Given the description of an element on the screen output the (x, y) to click on. 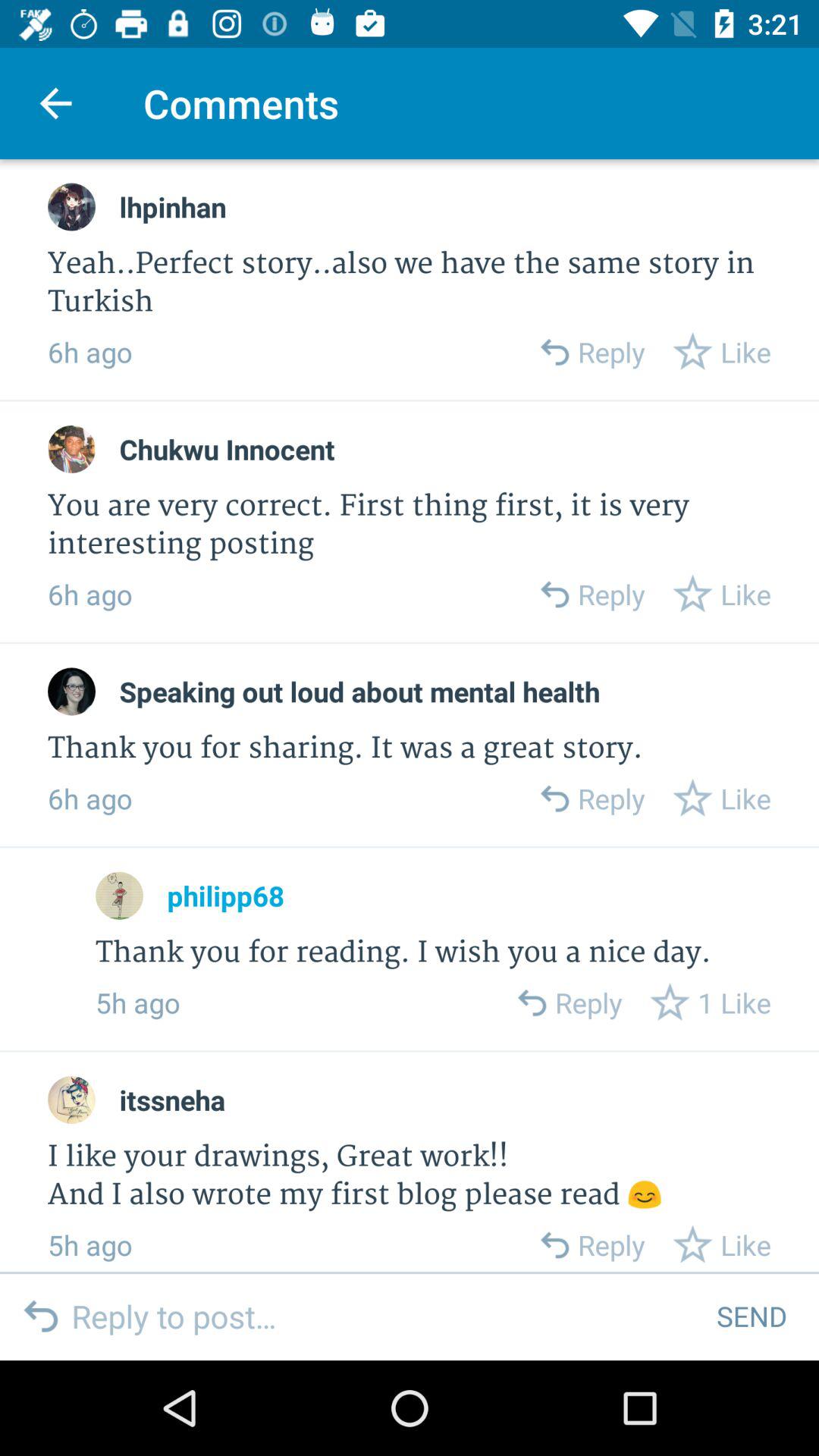
click icon to the left of comments icon (55, 103)
